Given the description of an element on the screen output the (x, y) to click on. 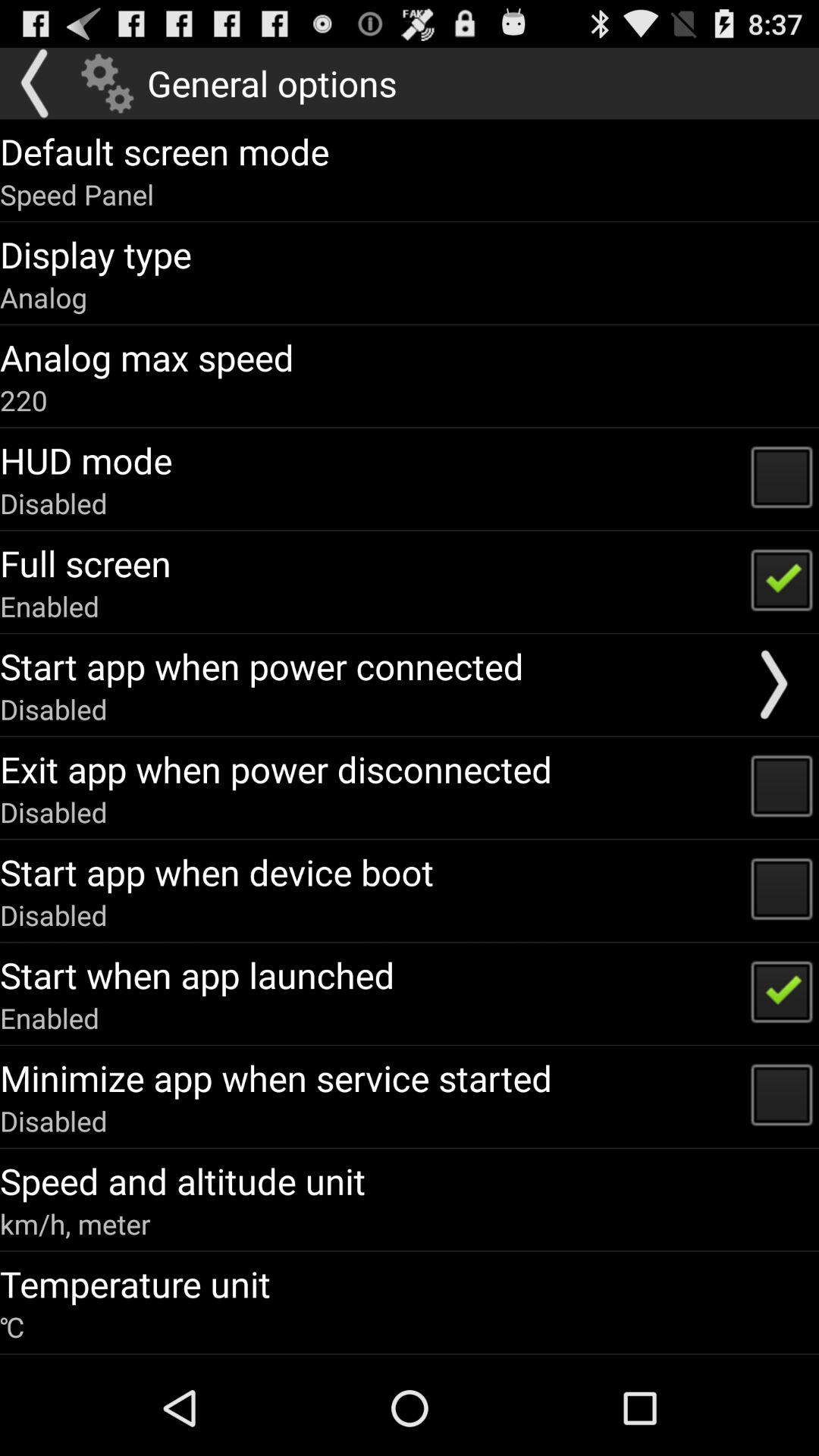
settings (107, 83)
